Given the description of an element on the screen output the (x, y) to click on. 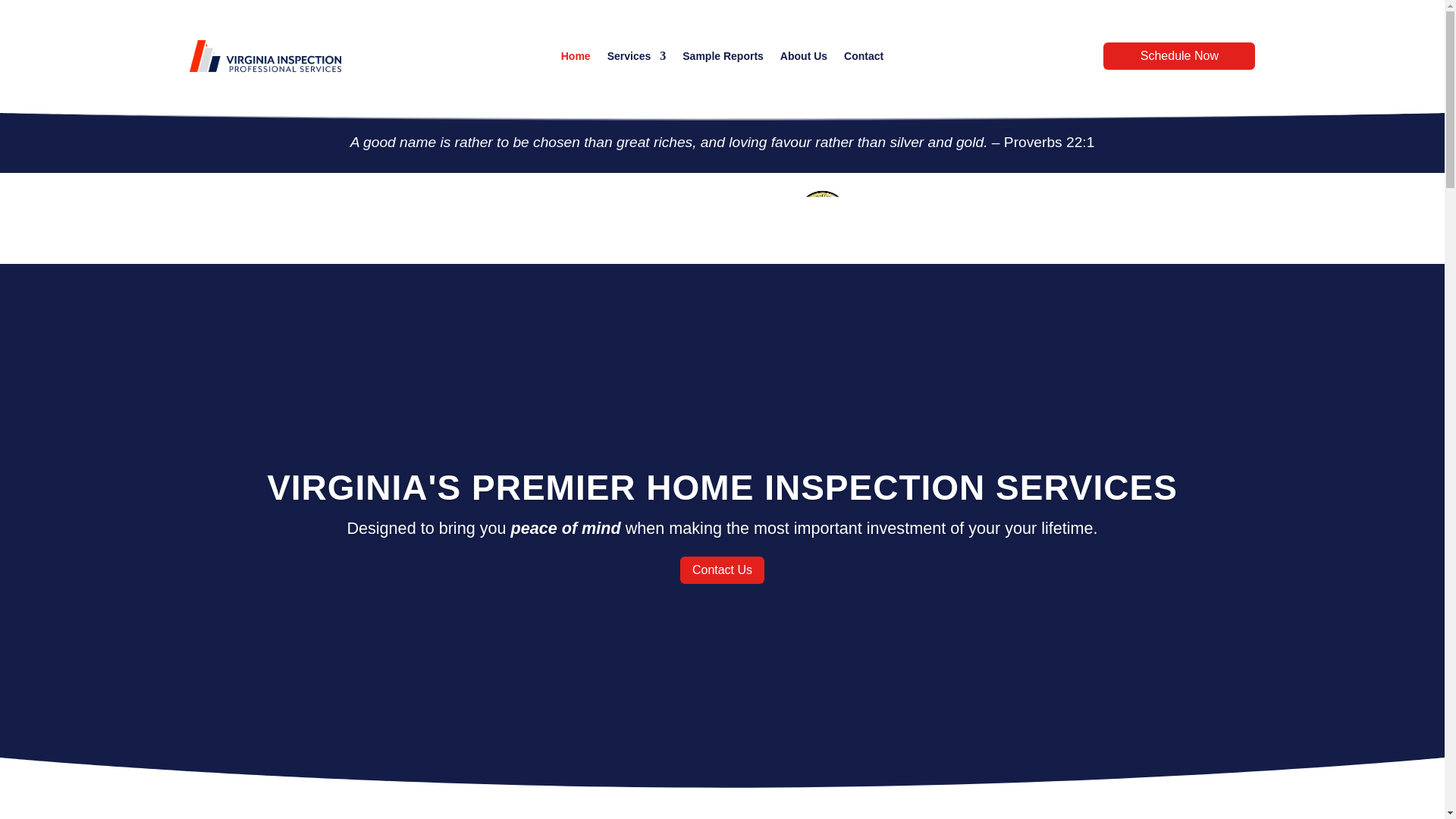
Contact (863, 58)
Services (636, 58)
Virginia-Inspection-Professional-Services-Logo-Color-1000px (264, 55)
Schedule Now (1179, 56)
Home (575, 58)
About Us (803, 58)
IMG-0276 (821, 218)
Sample Reports (722, 58)
